Given the description of an element on the screen output the (x, y) to click on. 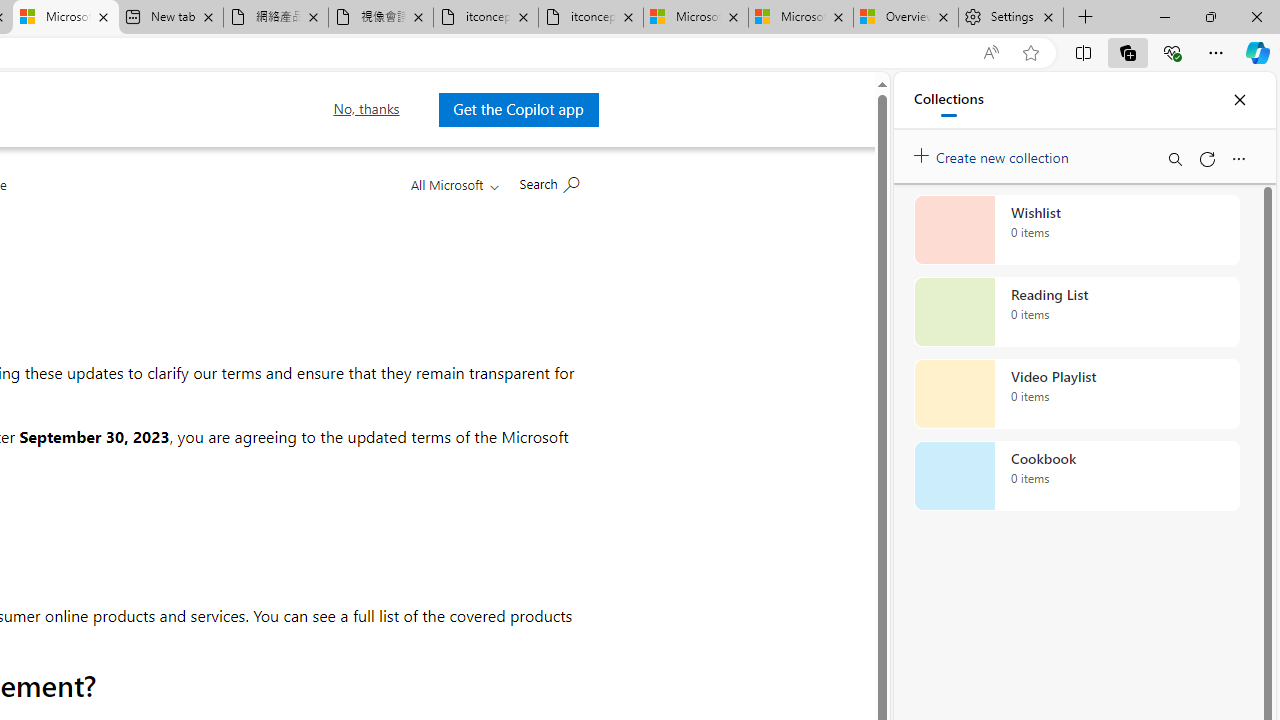
Reading List collection, 0 items (1076, 312)
Overview (905, 17)
Microsoft Services Agreement FAQ (65, 17)
Get the Copilot app  (518, 109)
No, thanks (366, 109)
Cookbook collection, 0 items (1076, 475)
